Given the description of an element on the screen output the (x, y) to click on. 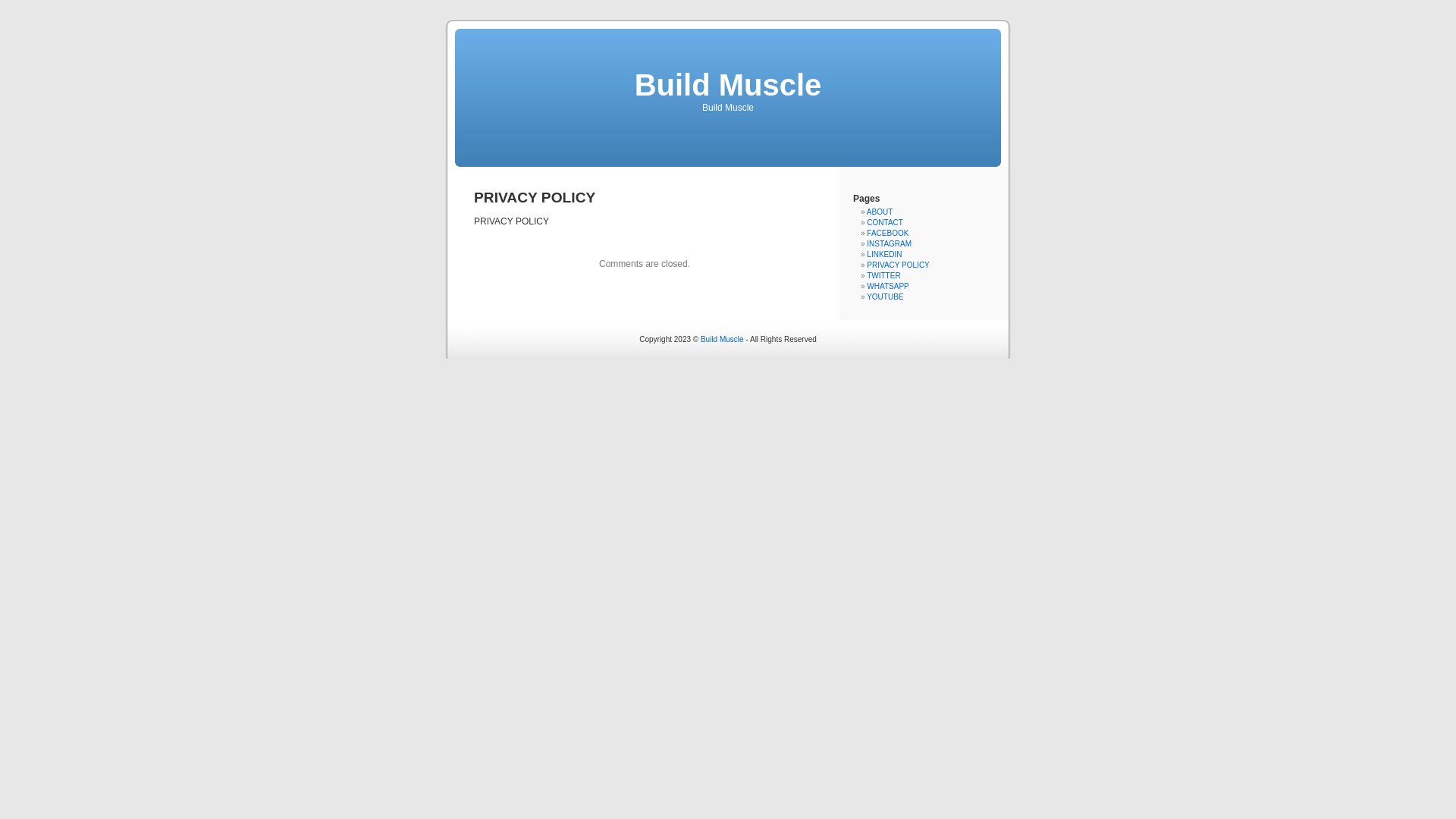
WHATSAPP Element type: text (887, 286)
Build Muscle Element type: text (721, 339)
INSTAGRAM Element type: text (888, 243)
Build Muscle Element type: text (728, 84)
FACEBOOK Element type: text (887, 233)
ABOUT Element type: text (879, 211)
TWITTER Element type: text (883, 275)
CONTACT Element type: text (884, 222)
LINKEDIN Element type: text (883, 254)
YOUTUBE Element type: text (884, 296)
PRIVACY POLICY Element type: text (897, 264)
